Given the description of an element on the screen output the (x, y) to click on. 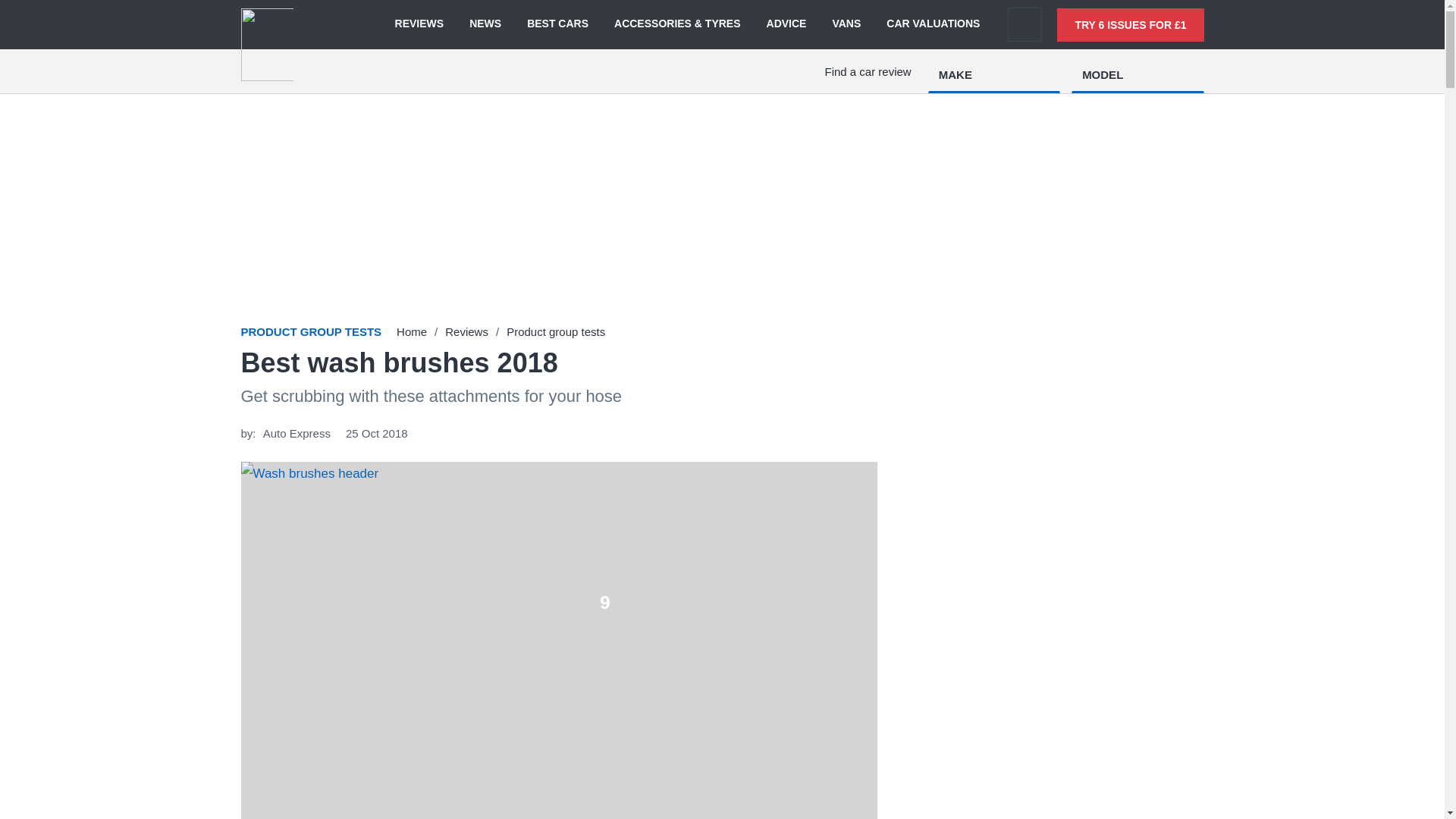
VANS (845, 24)
Search (1024, 24)
Search (1024, 24)
NEWS (485, 24)
BEST CARS (557, 24)
ADVICE (786, 24)
REVIEWS (419, 24)
CAR VALUATIONS (932, 24)
